Given the description of an element on the screen output the (x, y) to click on. 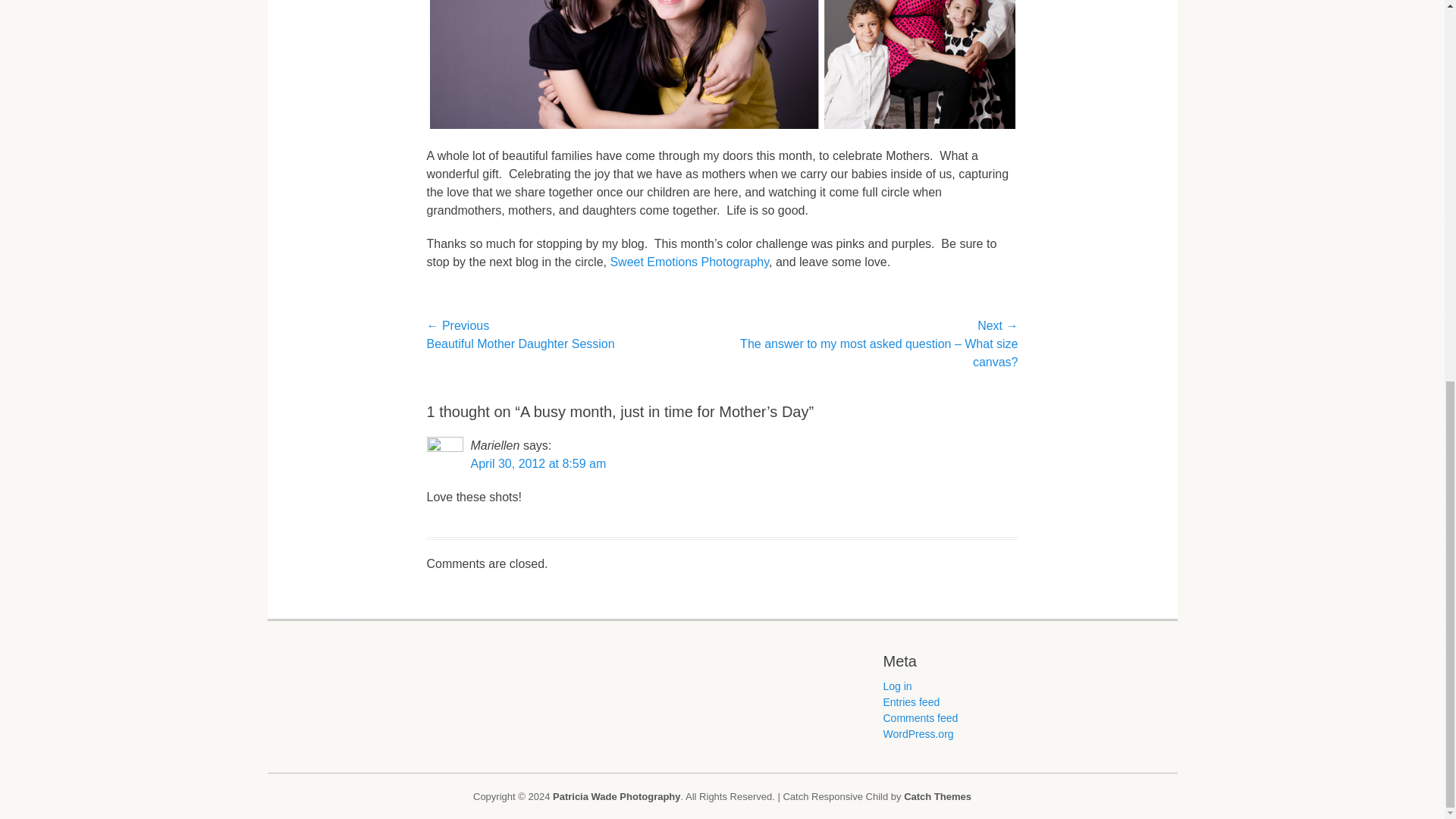
Sweet Emotions Photography (689, 261)
April challenge collage (721, 65)
